Given the description of an element on the screen output the (x, y) to click on. 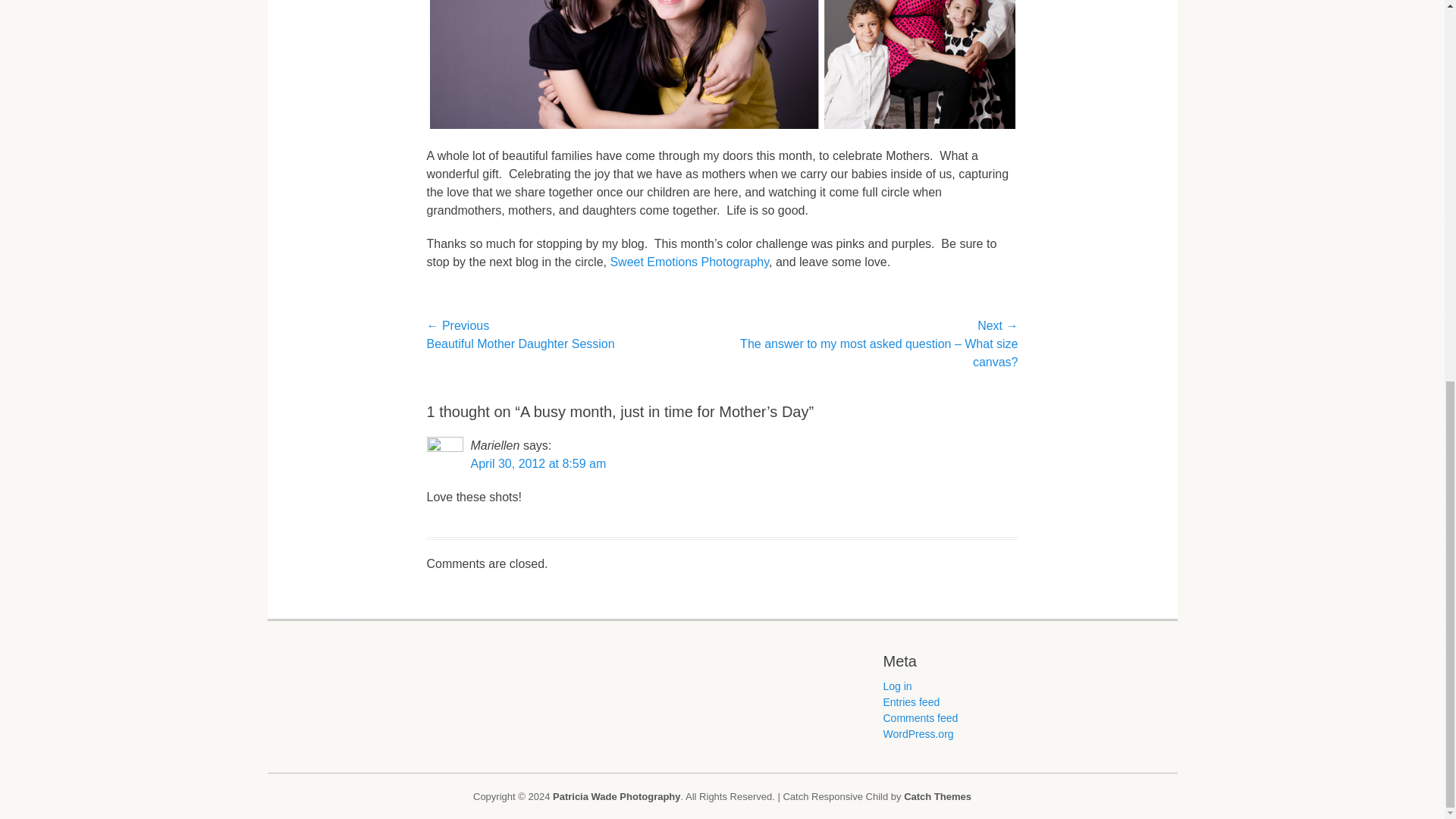
Sweet Emotions Photography (689, 261)
April challenge collage (721, 65)
